Given the description of an element on the screen output the (x, y) to click on. 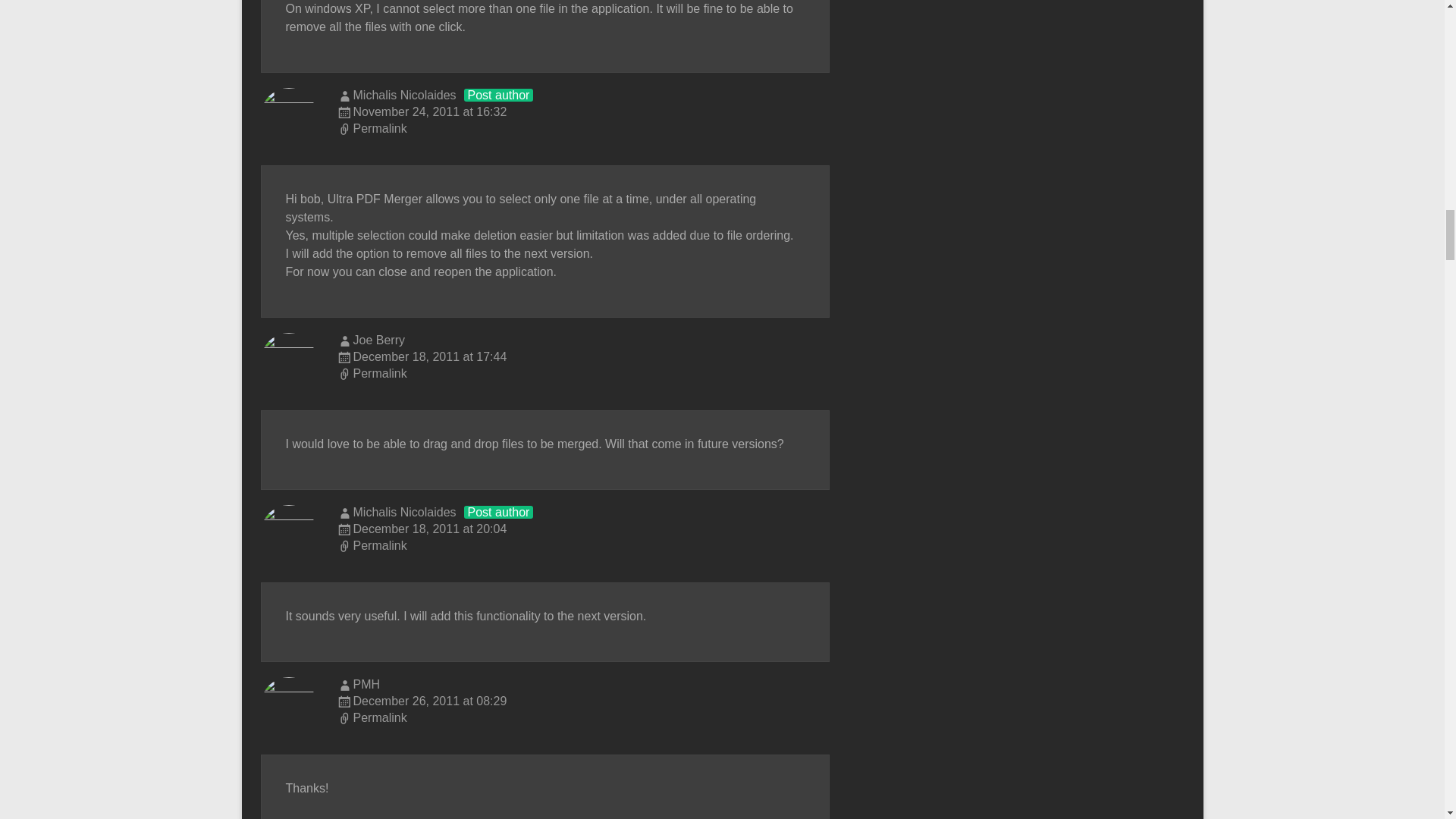
Permalink (582, 718)
Michalis Nicolaides (405, 512)
Permalink (582, 546)
Permalink (582, 129)
Michalis Nicolaides (405, 94)
Permalink (582, 374)
